Given the description of an element on the screen output the (x, y) to click on. 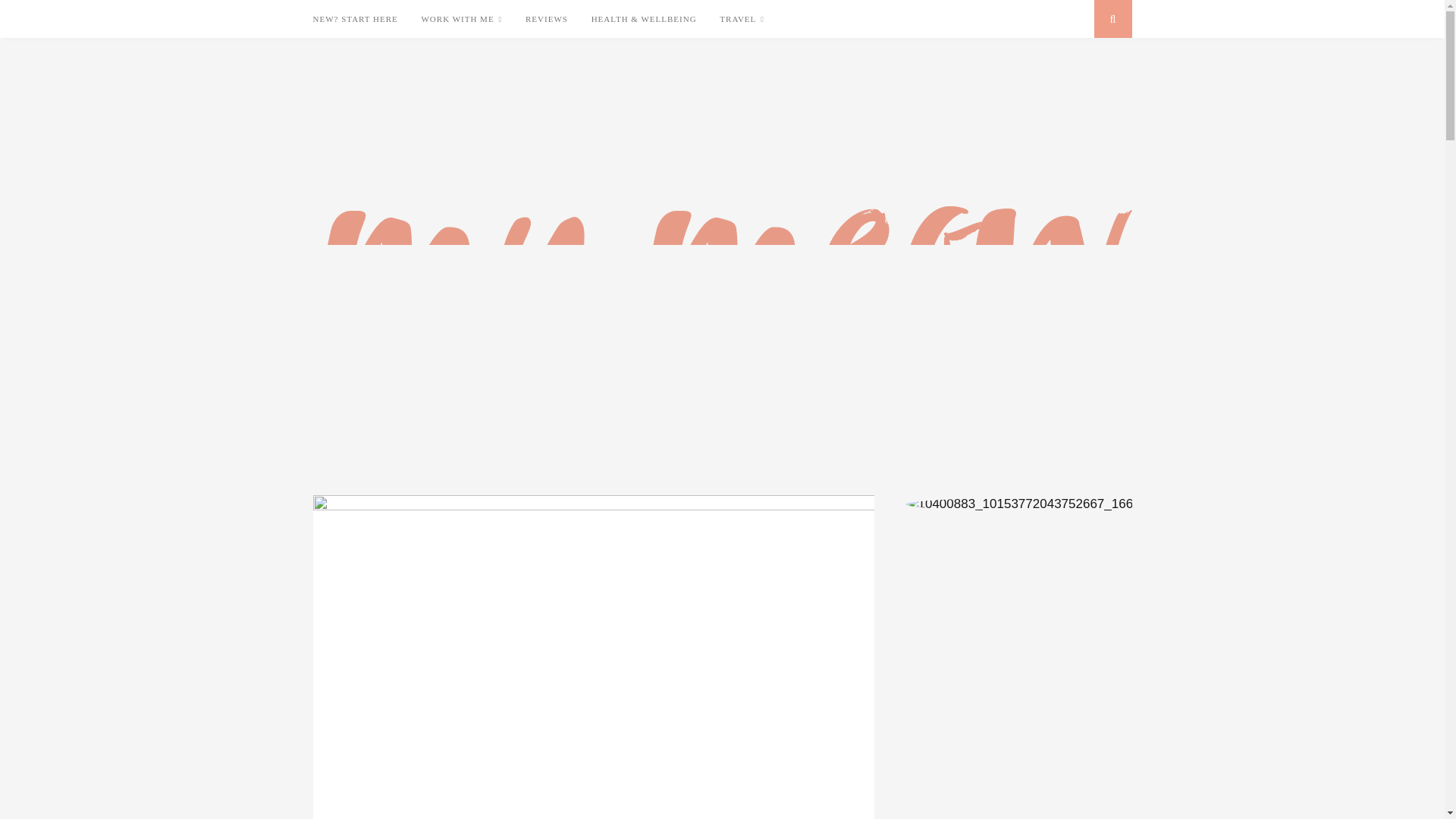
WORK WITH ME (461, 19)
TRAVEL (741, 19)
REVIEWS (546, 18)
NEW? START HERE (355, 18)
